Given the description of an element on the screen output the (x, y) to click on. 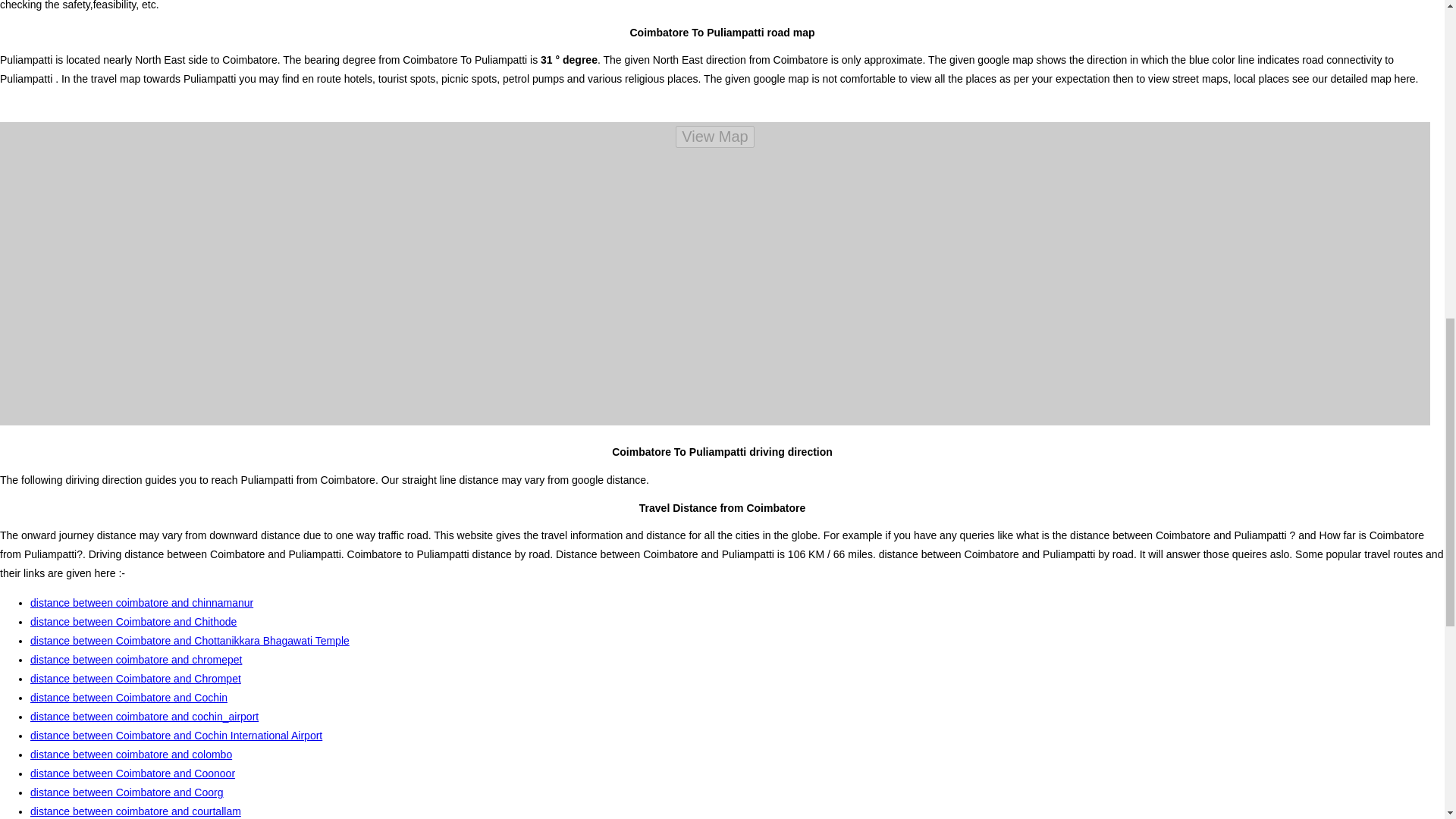
distance between Coimbatore and Chithode (132, 621)
distance between coimbatore and chinnamanur (141, 603)
distance between coimbatore and colombo (130, 754)
distance between Coimbatore and Cochin International Airport (175, 735)
distance between coimbatore and chromepet (135, 659)
distance between Coimbatore and Coonoor (132, 773)
distance between Coimbatore and Chrompet (135, 678)
distance between Coimbatore and Cochin (128, 697)
distance between coimbatore and courtallam (135, 811)
View Map (714, 137)
distance between Coimbatore and Coorg (127, 792)
